Given the description of an element on the screen output the (x, y) to click on. 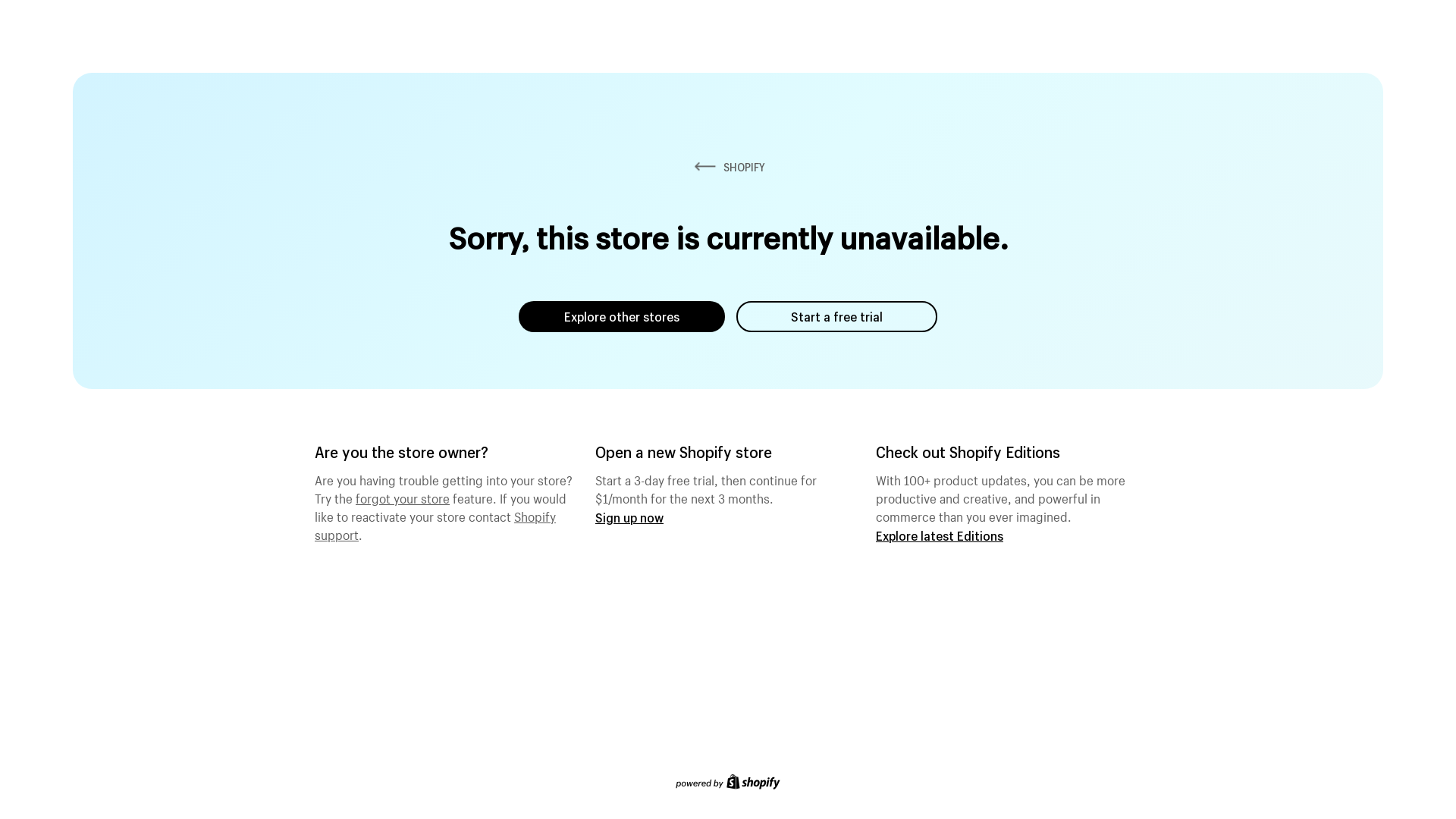
forgot your store Element type: text (402, 496)
Explore latest Editions Element type: text (939, 535)
Shopify support Element type: text (434, 523)
Explore other stores Element type: text (621, 316)
Start a free trial Element type: text (836, 316)
Sign up now Element type: text (629, 517)
SHOPIFY Element type: text (727, 167)
